Given the description of an element on the screen output the (x, y) to click on. 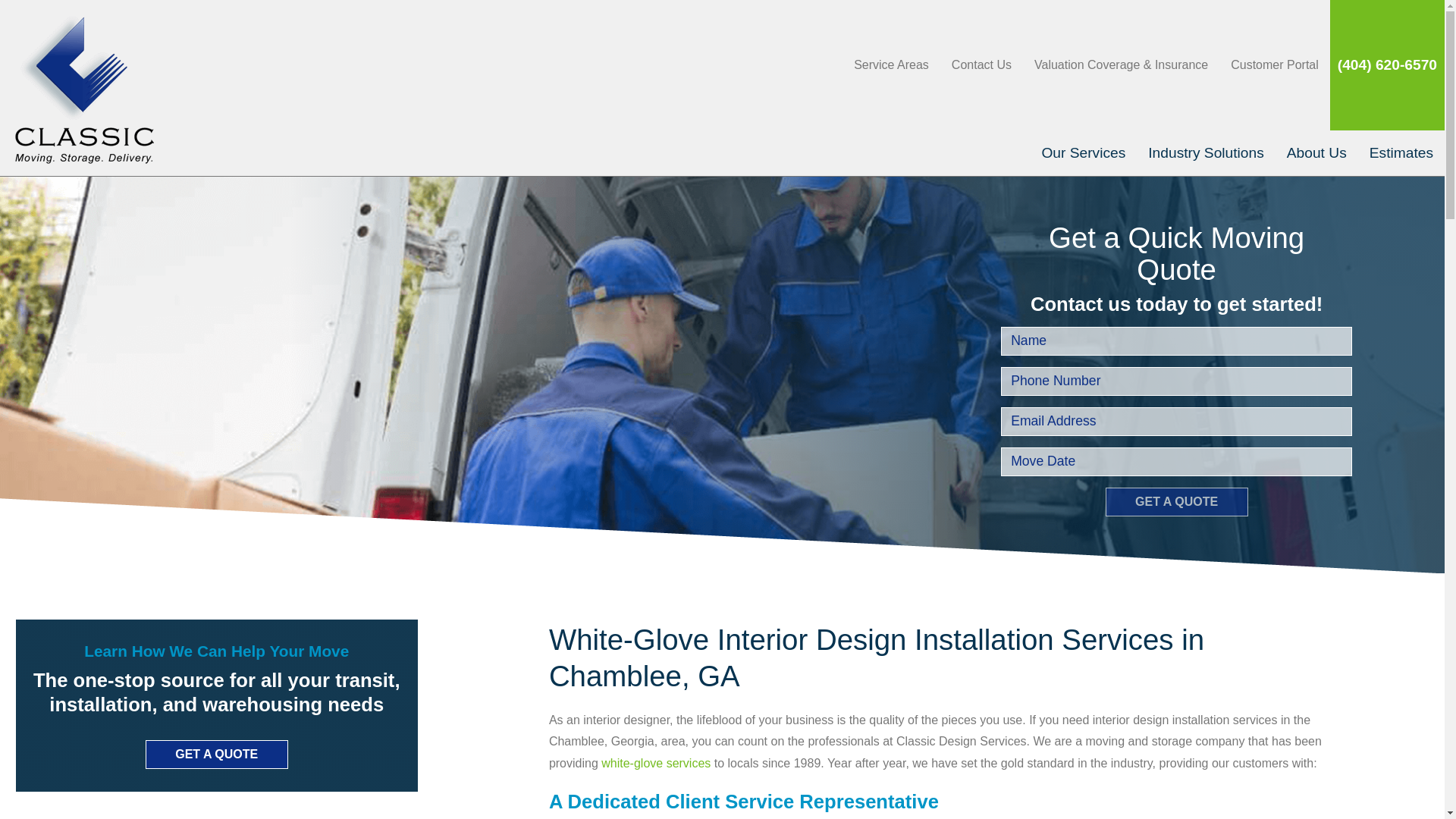
About Us (1316, 153)
Industry Solutions (1206, 153)
white-glove services (655, 762)
Service Areas (891, 64)
GET A QUOTE (1176, 501)
Our Services (1083, 153)
Customer Portal (1275, 64)
GET A QUOTE (216, 754)
Contact Us (981, 64)
Classic Design Services (84, 87)
